Given the description of an element on the screen output the (x, y) to click on. 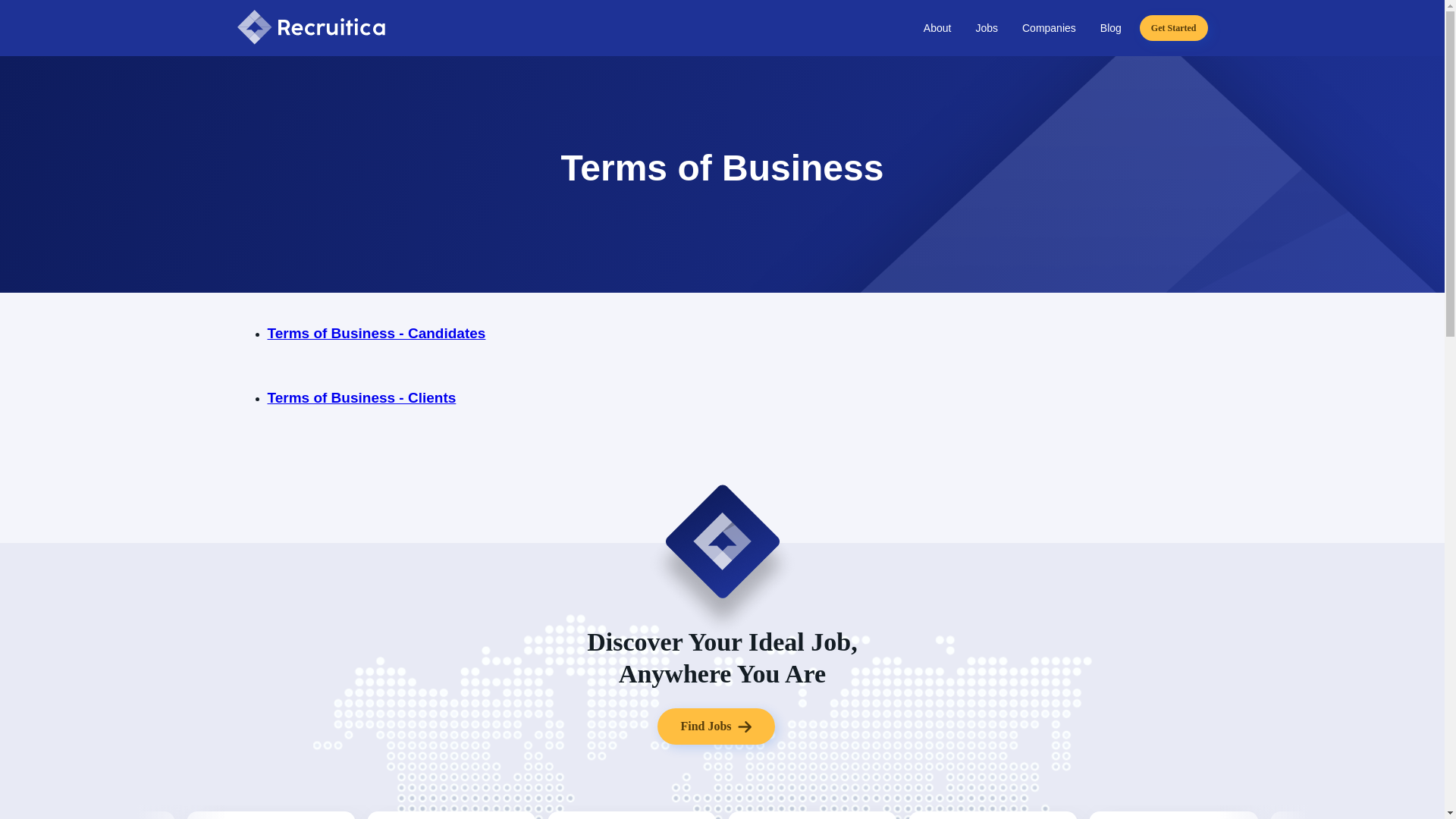
Companies (1048, 27)
Find Jobs (716, 726)
Get Started (1174, 27)
Terms of Business - Candidates (375, 333)
About (937, 27)
Terms of Business - Clients (360, 397)
Blog (1110, 27)
Jobs (986, 27)
